Given the description of an element on the screen output the (x, y) to click on. 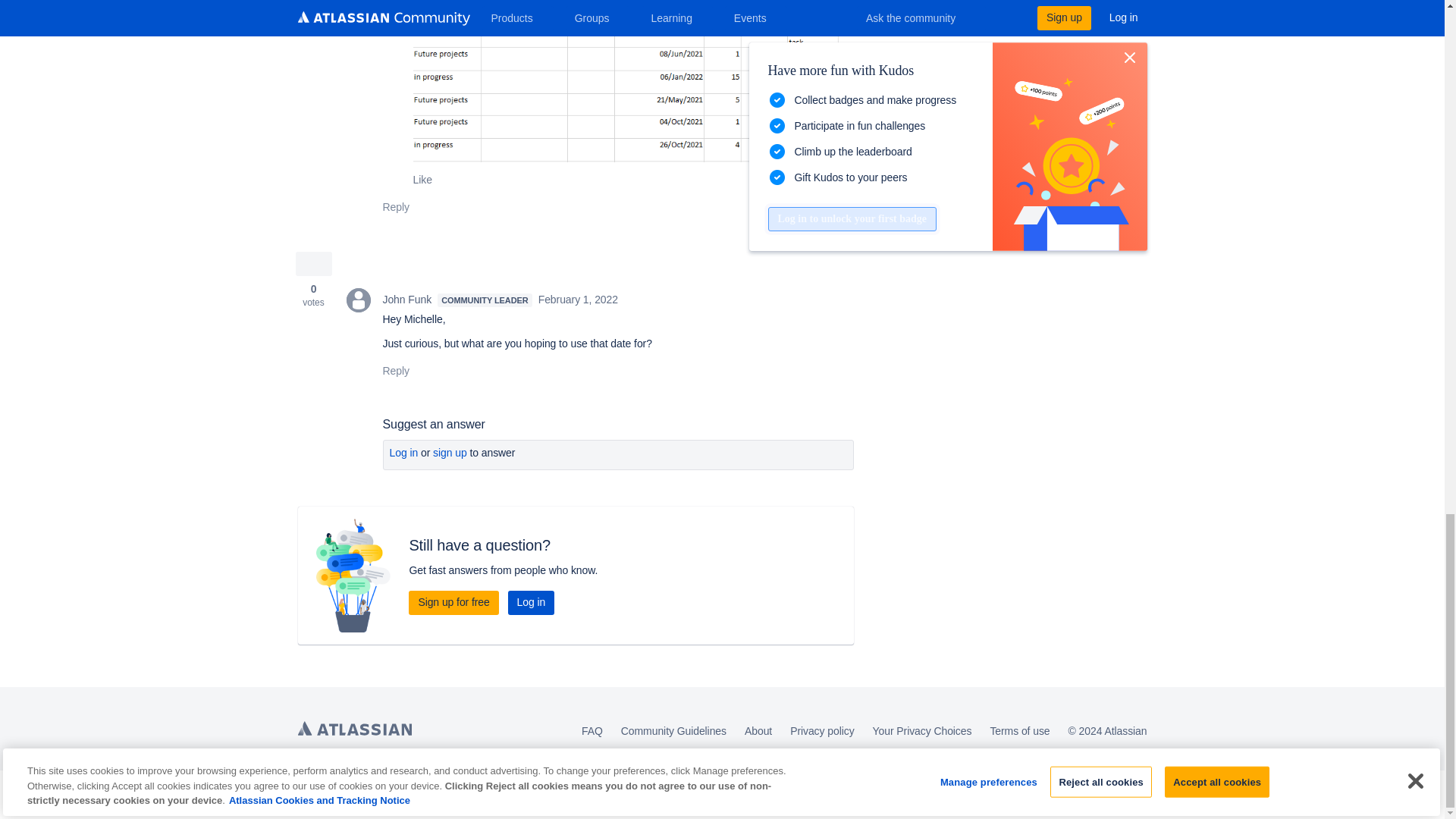
John Funk (357, 300)
Screenshot 2022-02-01 090144.png (632, 81)
